Given the description of an element on the screen output the (x, y) to click on. 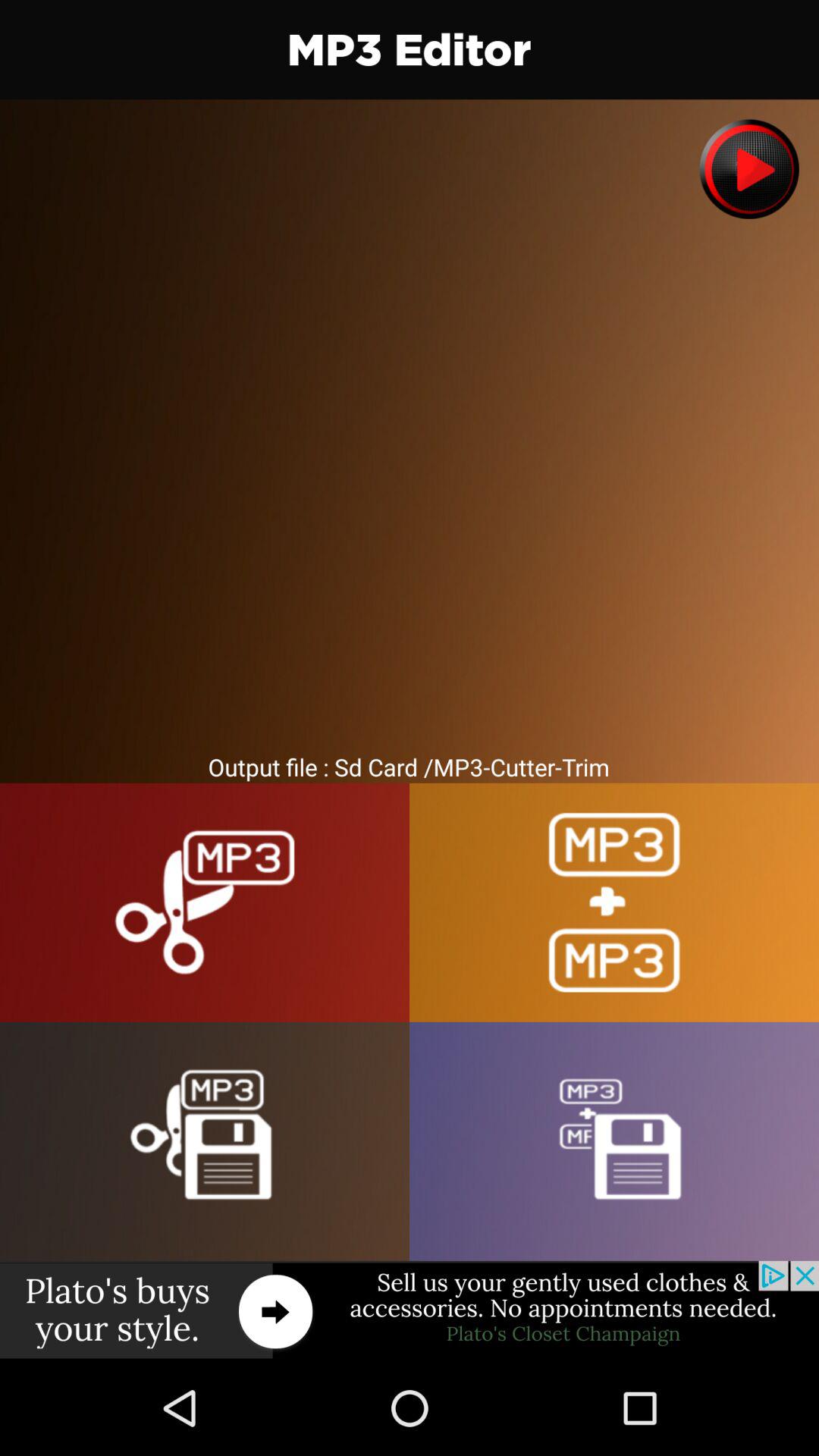
lets play (749, 168)
